Given the description of an element on the screen output the (x, y) to click on. 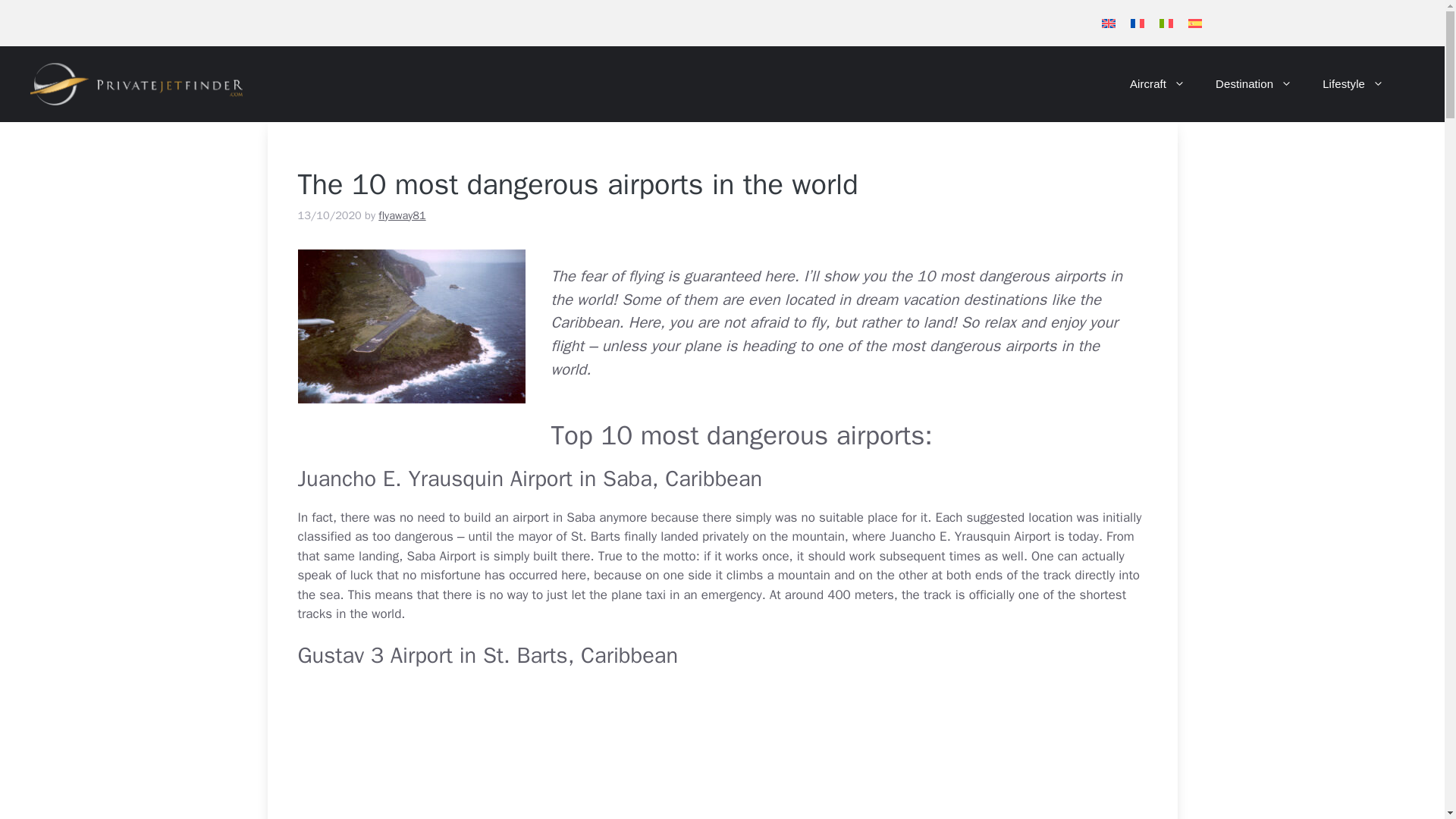
Lifestyle (1353, 84)
View all posts by flyaway81 (401, 214)
Destination (1253, 84)
Aircraft (1157, 84)
flyaway81 (401, 214)
